Given the description of an element on the screen output the (x, y) to click on. 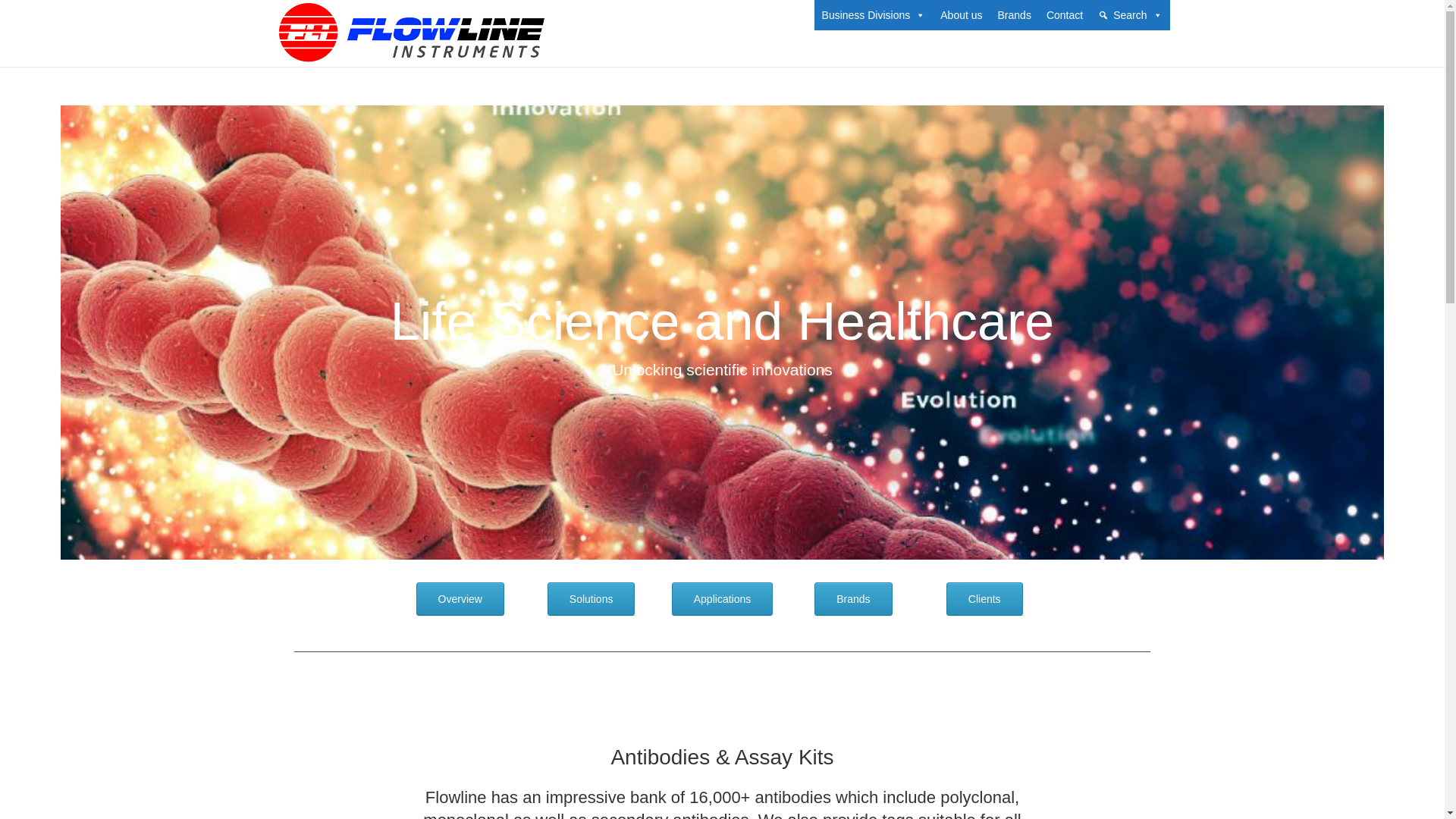
Search (1129, 15)
Contact (1064, 15)
Brands (1014, 15)
Applications (722, 598)
Clients (984, 598)
Overview (459, 598)
Business Divisions (873, 15)
Solutions (590, 598)
About us (961, 15)
Brands (852, 598)
